Given the description of an element on the screen output the (x, y) to click on. 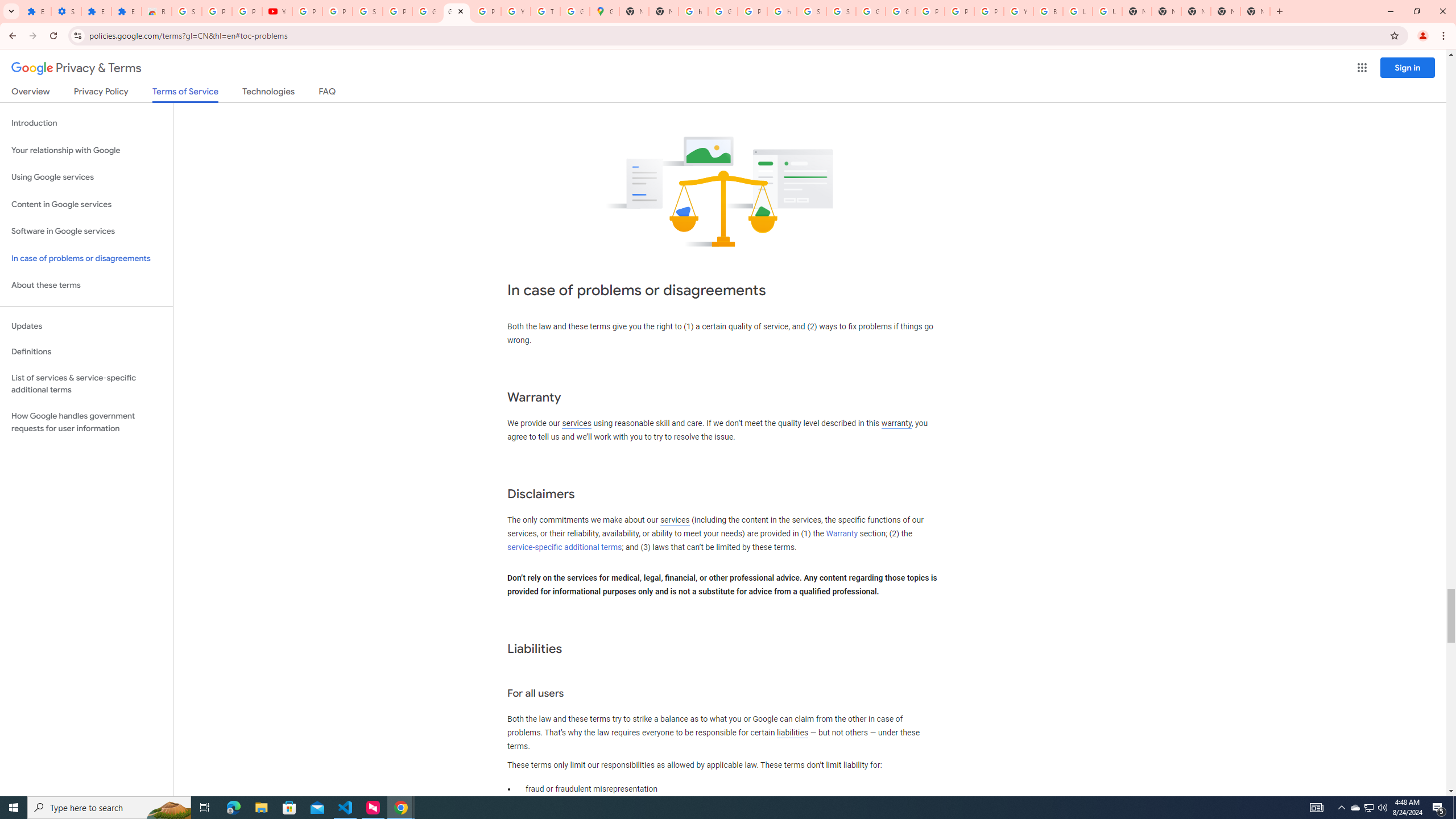
Warranty (841, 533)
Sign in - Google Accounts (840, 11)
https://scholar.google.com/ (781, 11)
Definitions (86, 352)
Terms of Service (184, 94)
Privacy & Terms (76, 68)
Technologies (268, 93)
YouTube (277, 11)
Your relationship with Google (86, 150)
Updates (86, 325)
